Given the description of an element on the screen output the (x, y) to click on. 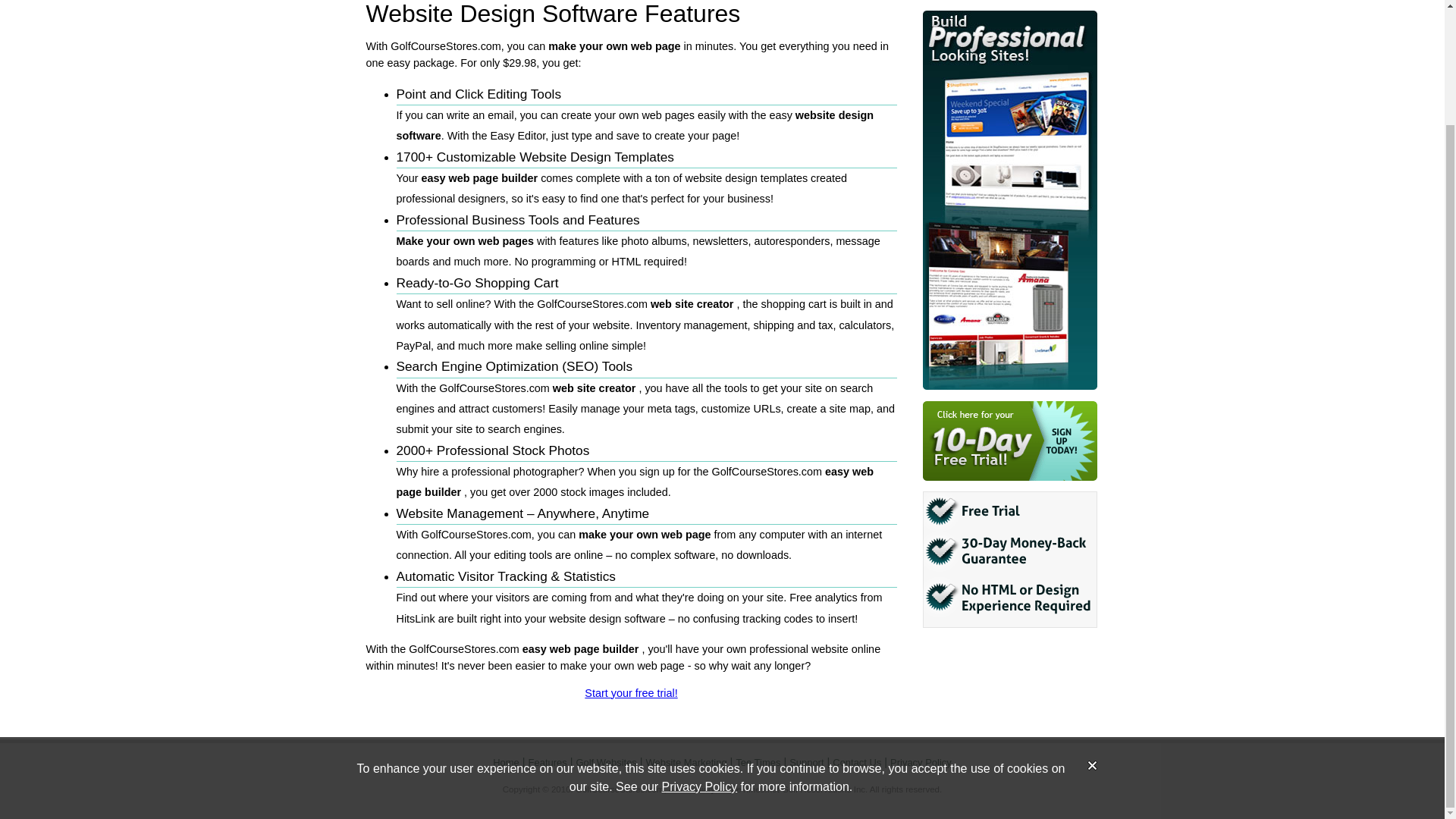
Website Marketing (686, 762)
Start your free trial! (631, 693)
Privacy Policy (920, 762)
Golf Websites (605, 762)
Contact Us (856, 762)
Features (547, 762)
Privacy Policy (700, 649)
Home (506, 762)
Tee Times (757, 762)
Support (806, 762)
